Given the description of an element on the screen output the (x, y) to click on. 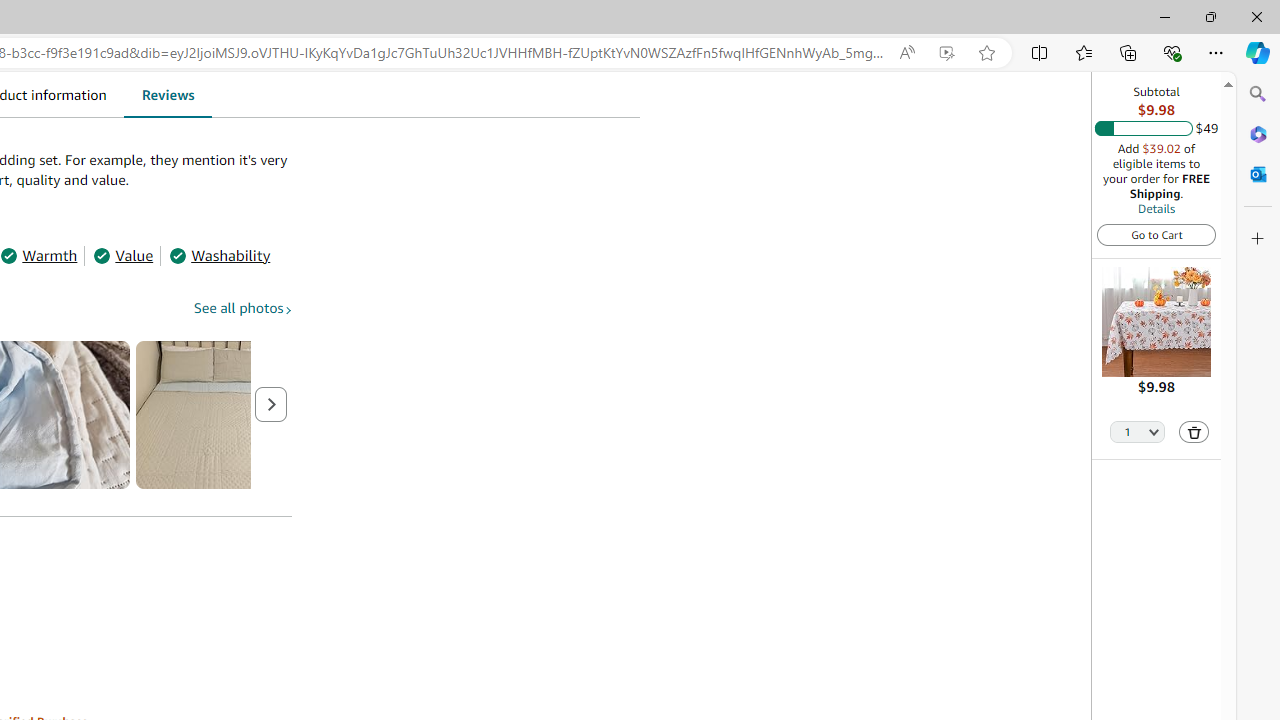
See all photos (243, 307)
Washability (219, 254)
Value (123, 254)
Warmth (39, 254)
Next page (271, 405)
